Given the description of an element on the screen output the (x, y) to click on. 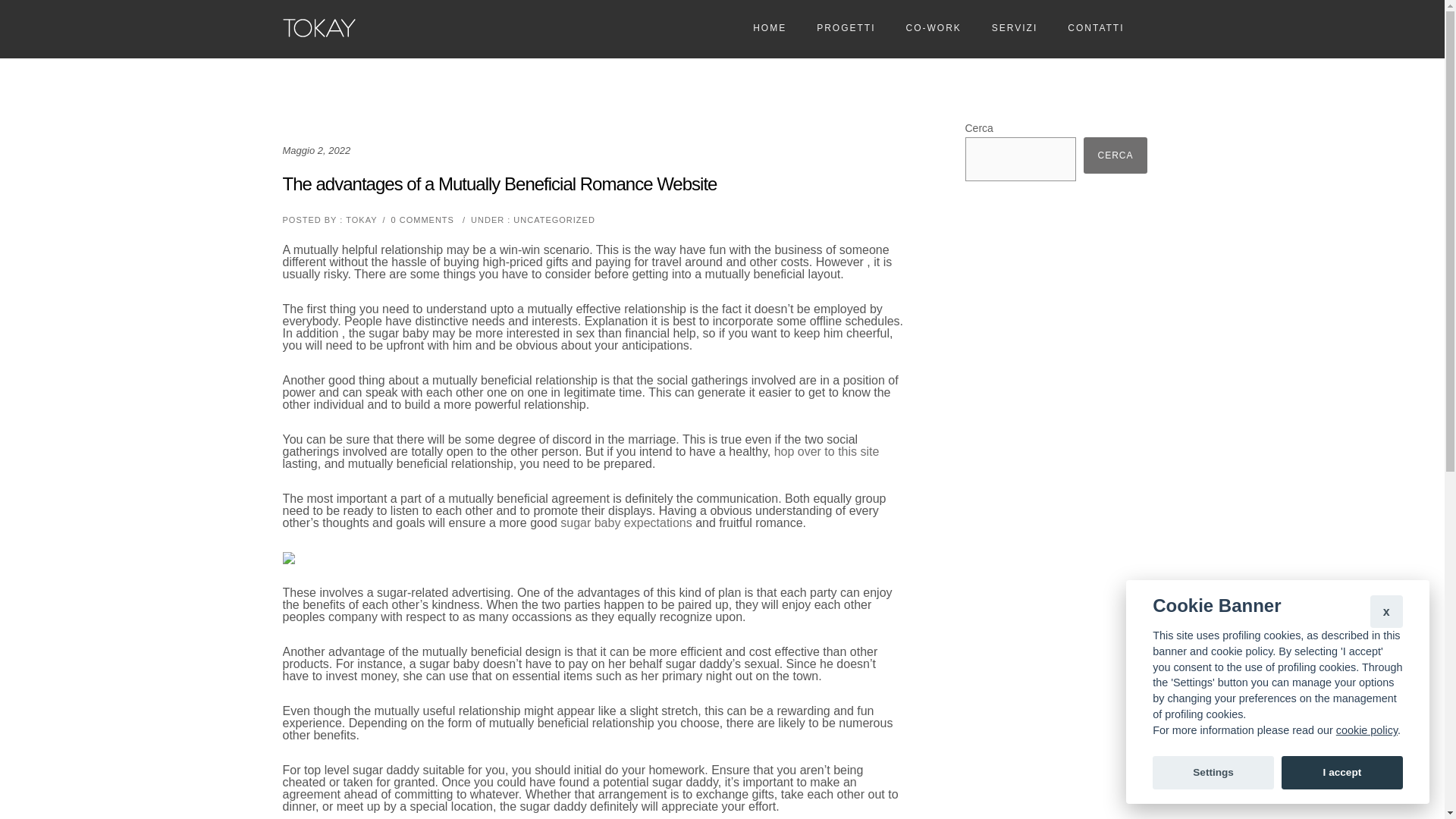
Settings (1213, 772)
UNCATEGORIZED (553, 219)
0 COMMENTS (422, 219)
The advantages of a Mutually Beneficial Romance Website (499, 184)
SERVIZI (1014, 27)
HOME (770, 27)
HOME (770, 27)
CO-WORK (932, 27)
sugar baby expectations (625, 522)
CERCA (1115, 155)
PROGETTI (845, 27)
CONTATTI (1095, 27)
CONTATTI (1095, 27)
I accept (1342, 772)
SERVIZI (1014, 27)
